Given the description of an element on the screen output the (x, y) to click on. 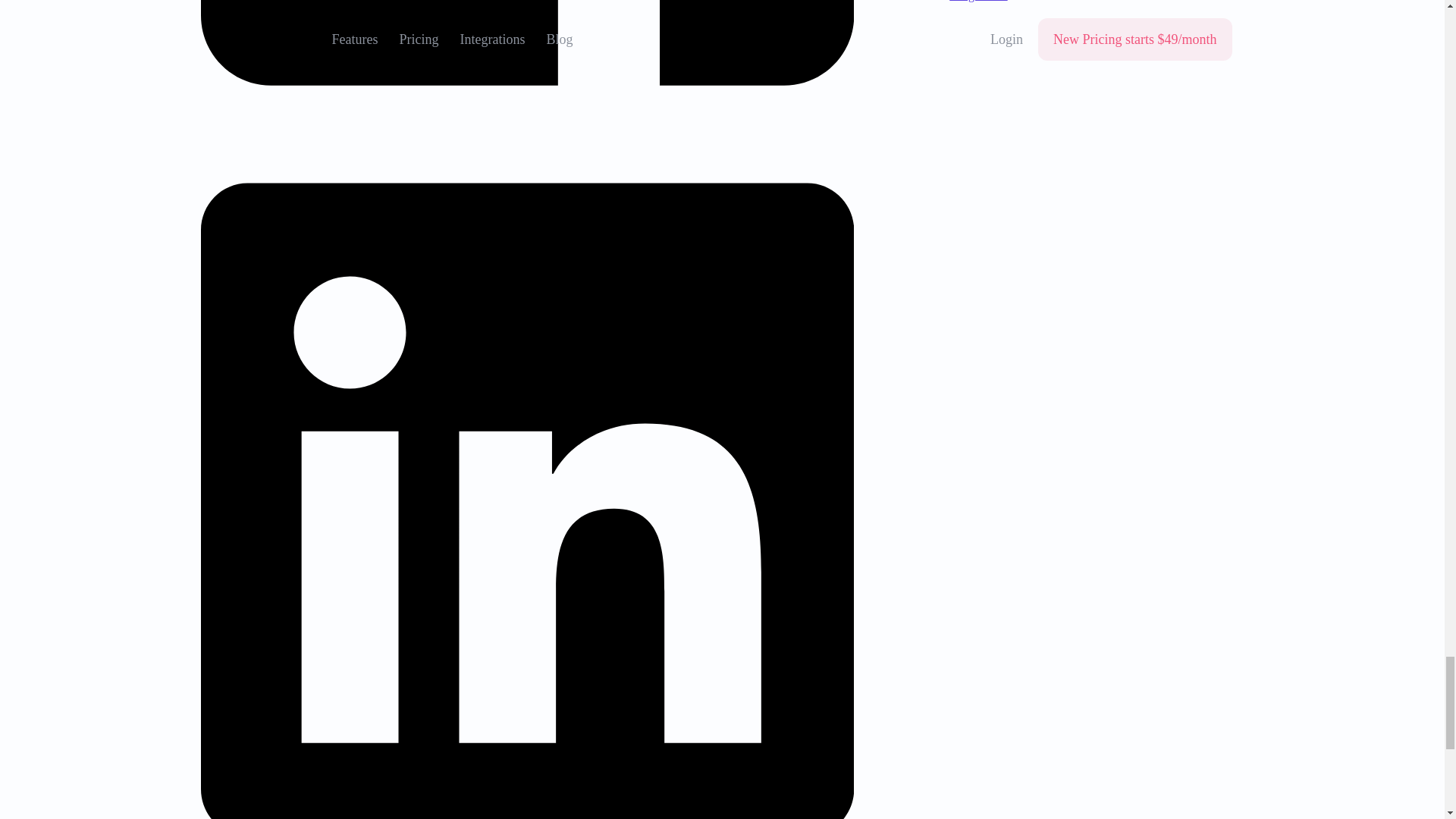
Facebook Square (526, 65)
Integrations (978, 0)
